Given the description of an element on the screen output the (x, y) to click on. 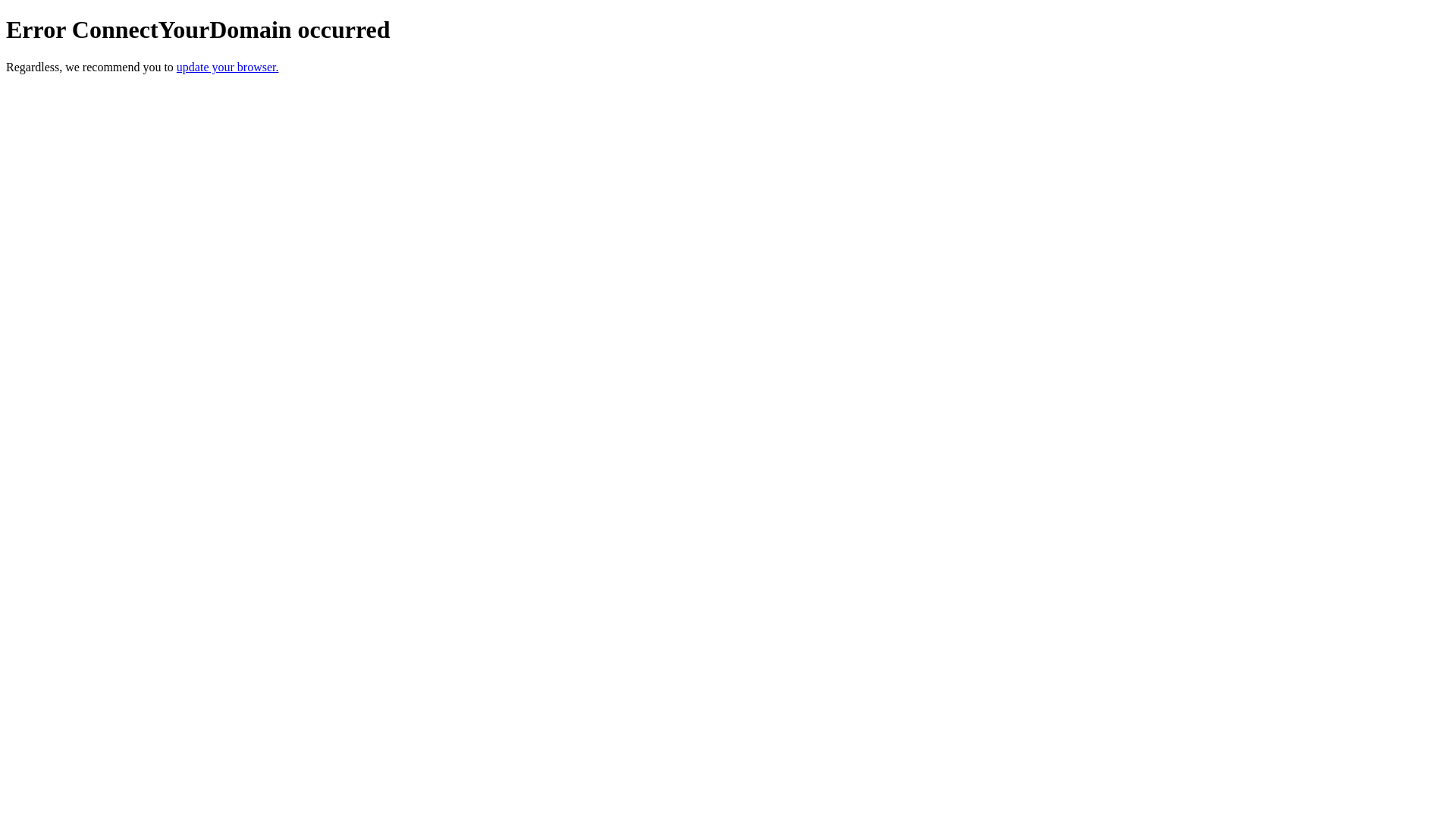
update your browser. Element type: text (227, 66)
